Given the description of an element on the screen output the (x, y) to click on. 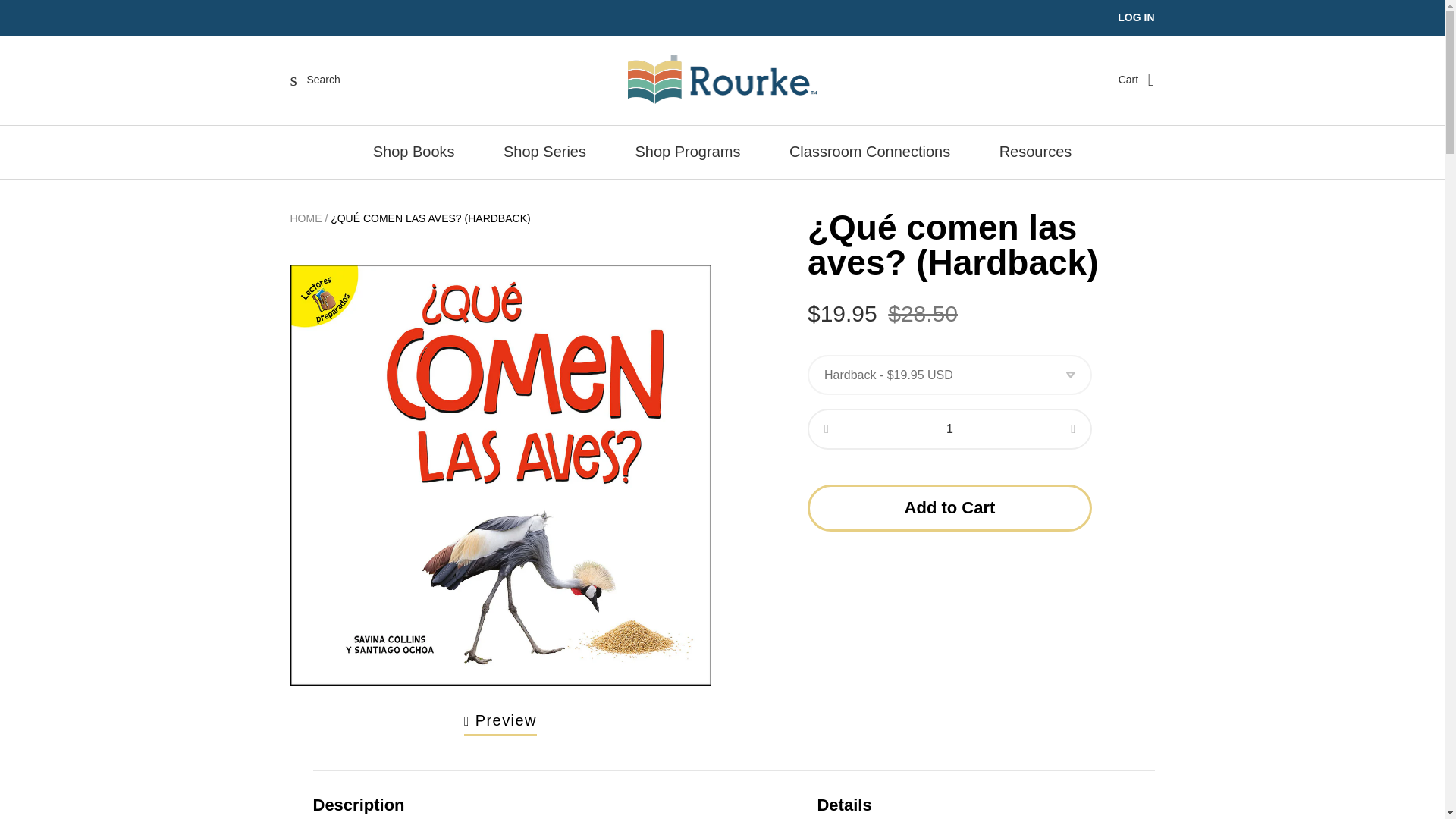
LOG IN (1136, 17)
1 (950, 428)
Search (315, 78)
Back to the frontpage (305, 217)
